Given the description of an element on the screen output the (x, y) to click on. 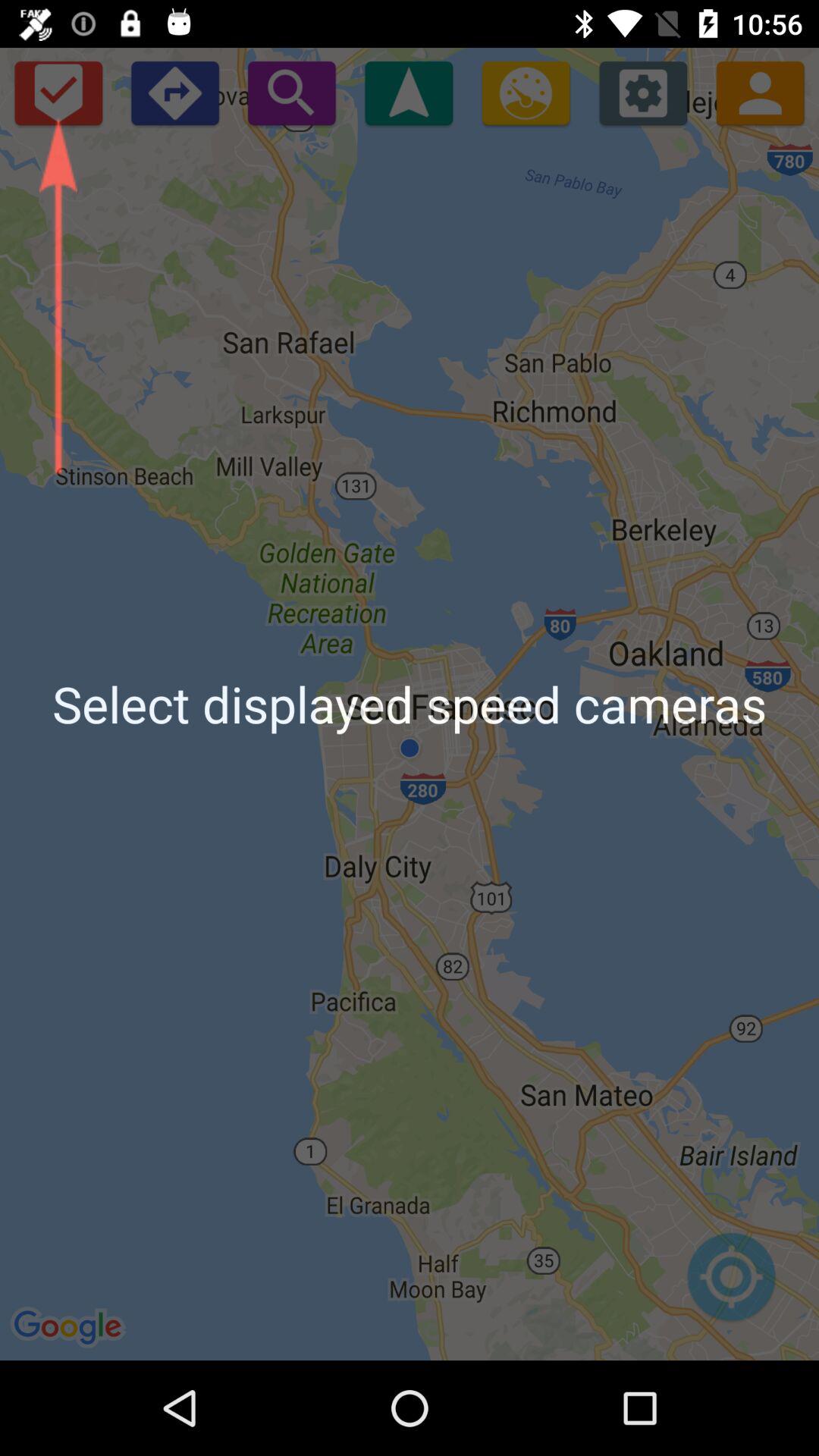
find saved routes (58, 92)
